Given the description of an element on the screen output the (x, y) to click on. 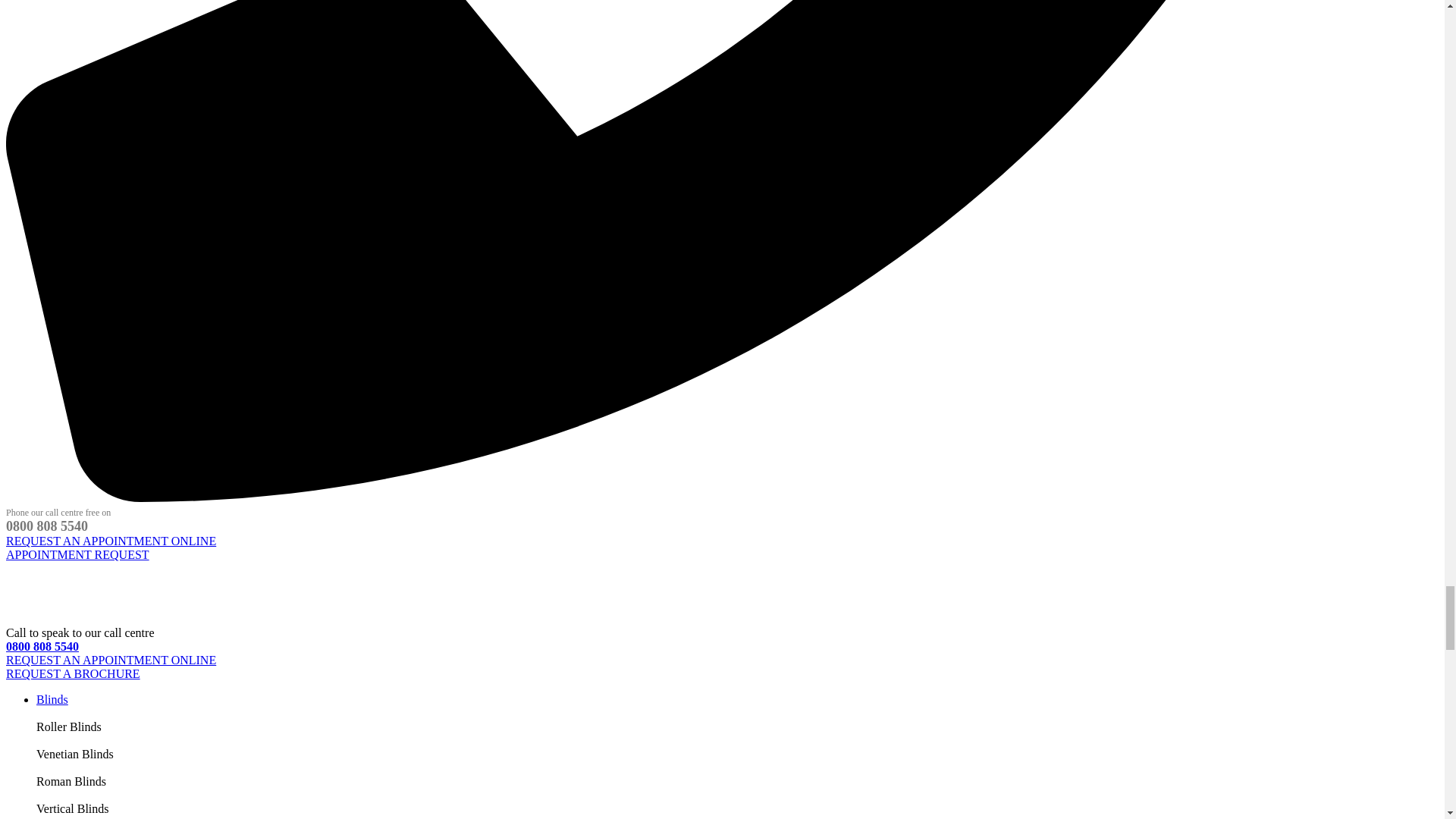
0800 808 5540 (41, 645)
APPOINTMENT REQUEST (77, 554)
REQUEST AN APPOINTMENT ONLINE (110, 540)
REQUEST AN APPOINTMENT ONLINE (110, 659)
REQUEST A BROCHURE (72, 673)
